Given the description of an element on the screen output the (x, y) to click on. 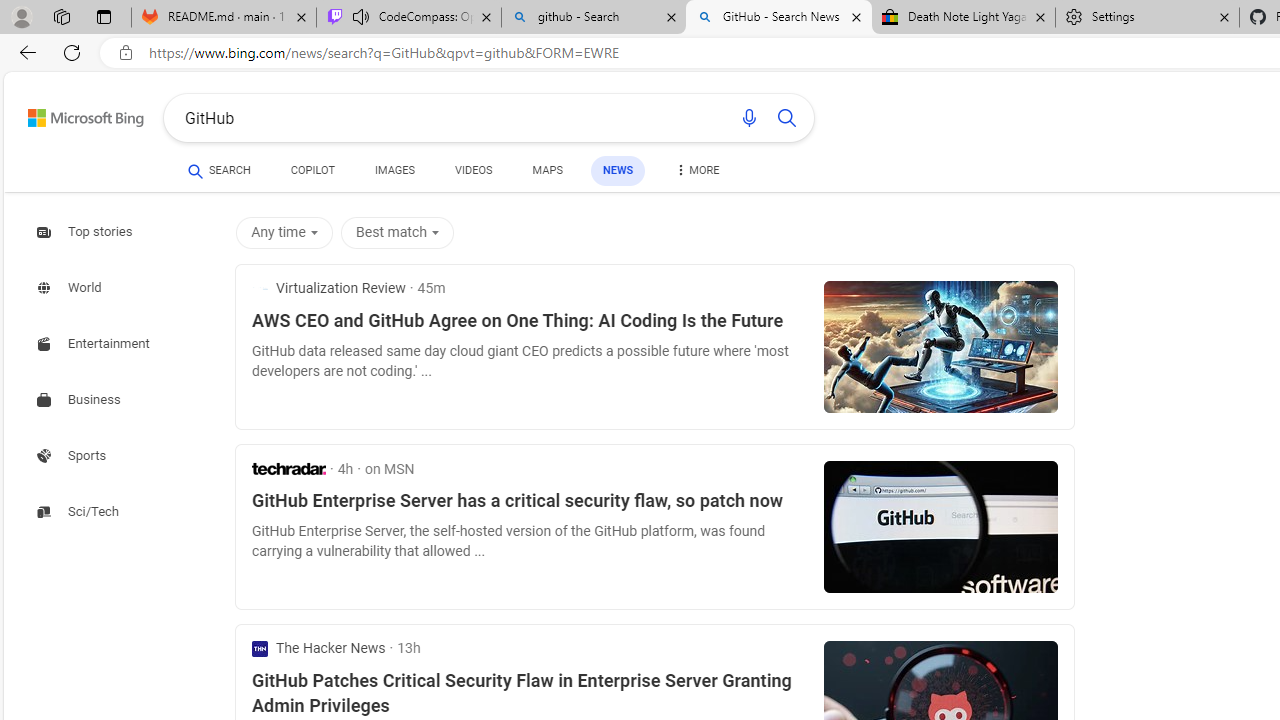
Any time (283, 232)
Search news about Top stories (86, 231)
